Given the description of an element on the screen output the (x, y) to click on. 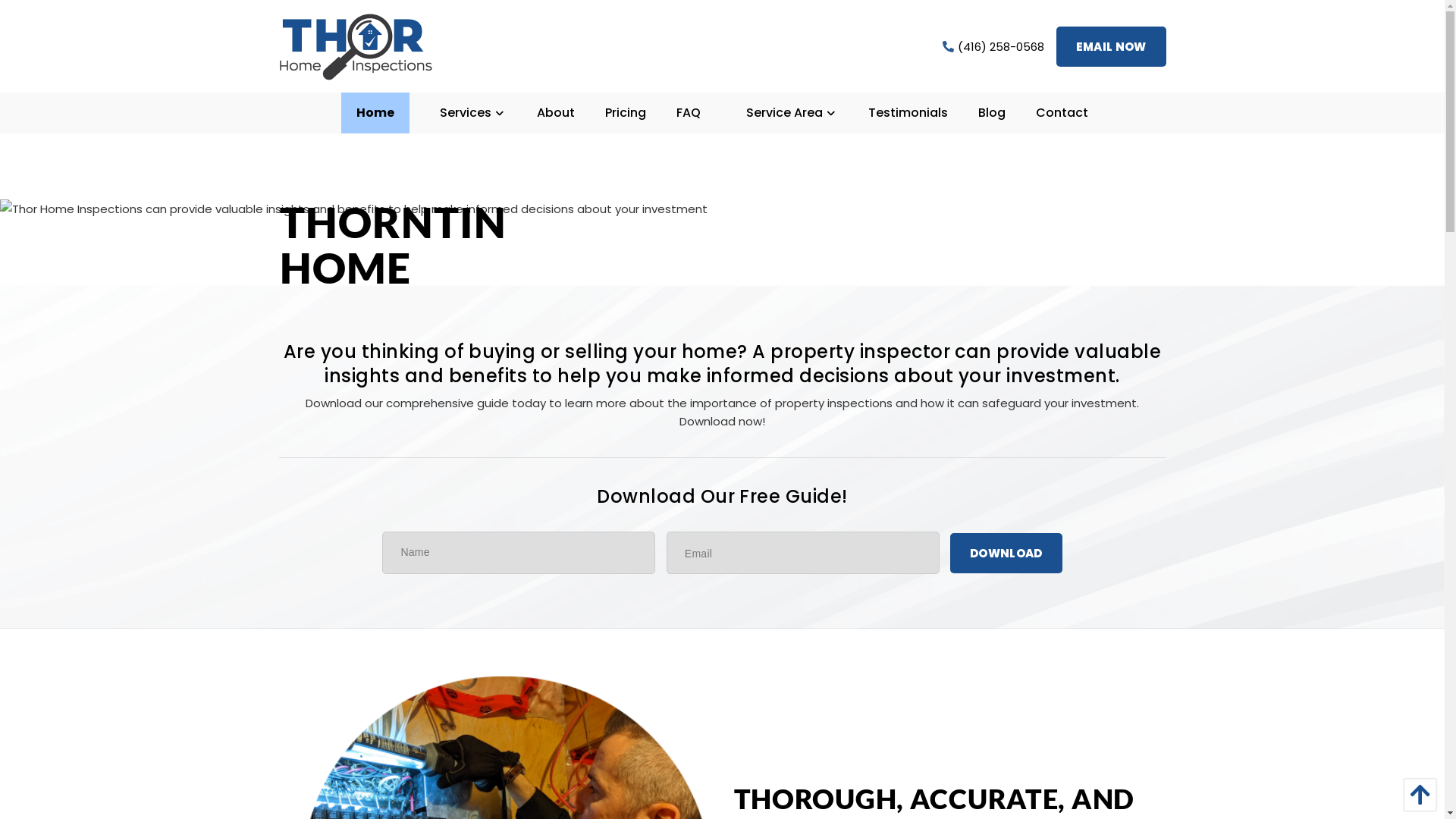
EMAIL NOW Element type: text (1111, 45)
Home Element type: text (375, 112)
Download Element type: text (1005, 552)
Blog Element type: text (991, 112)
Pricing Element type: text (625, 112)
(416) 258-0568 Element type: text (993, 45)
GET IN TOUCH Element type: text (342, 401)
Testimonials Element type: text (908, 112)
Services Element type: text (465, 112)
Contact Element type: text (1061, 112)
Service Area Element type: text (784, 112)
About Element type: text (555, 112)
FAQ Element type: text (688, 112)
